Given the description of an element on the screen output the (x, y) to click on. 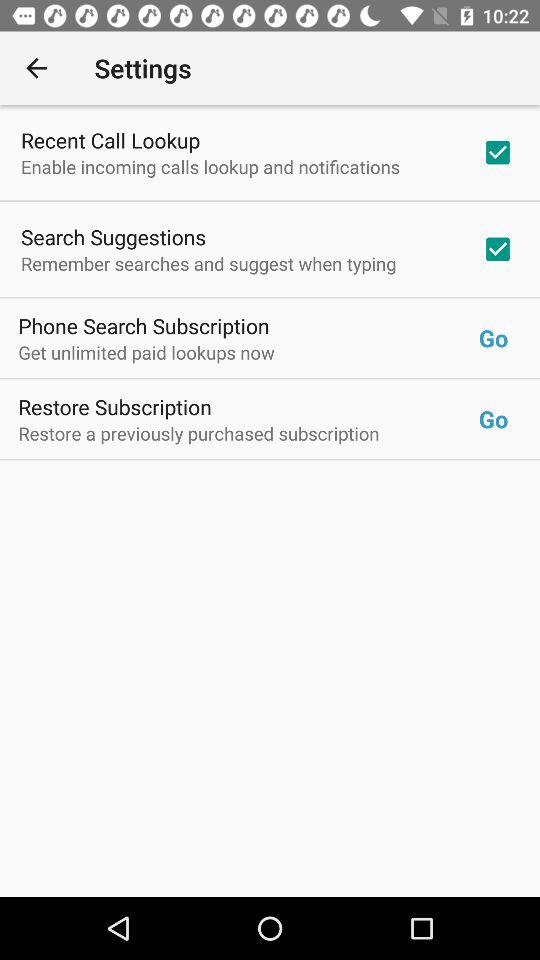
select the item next to the settings icon (36, 68)
